Given the description of an element on the screen output the (x, y) to click on. 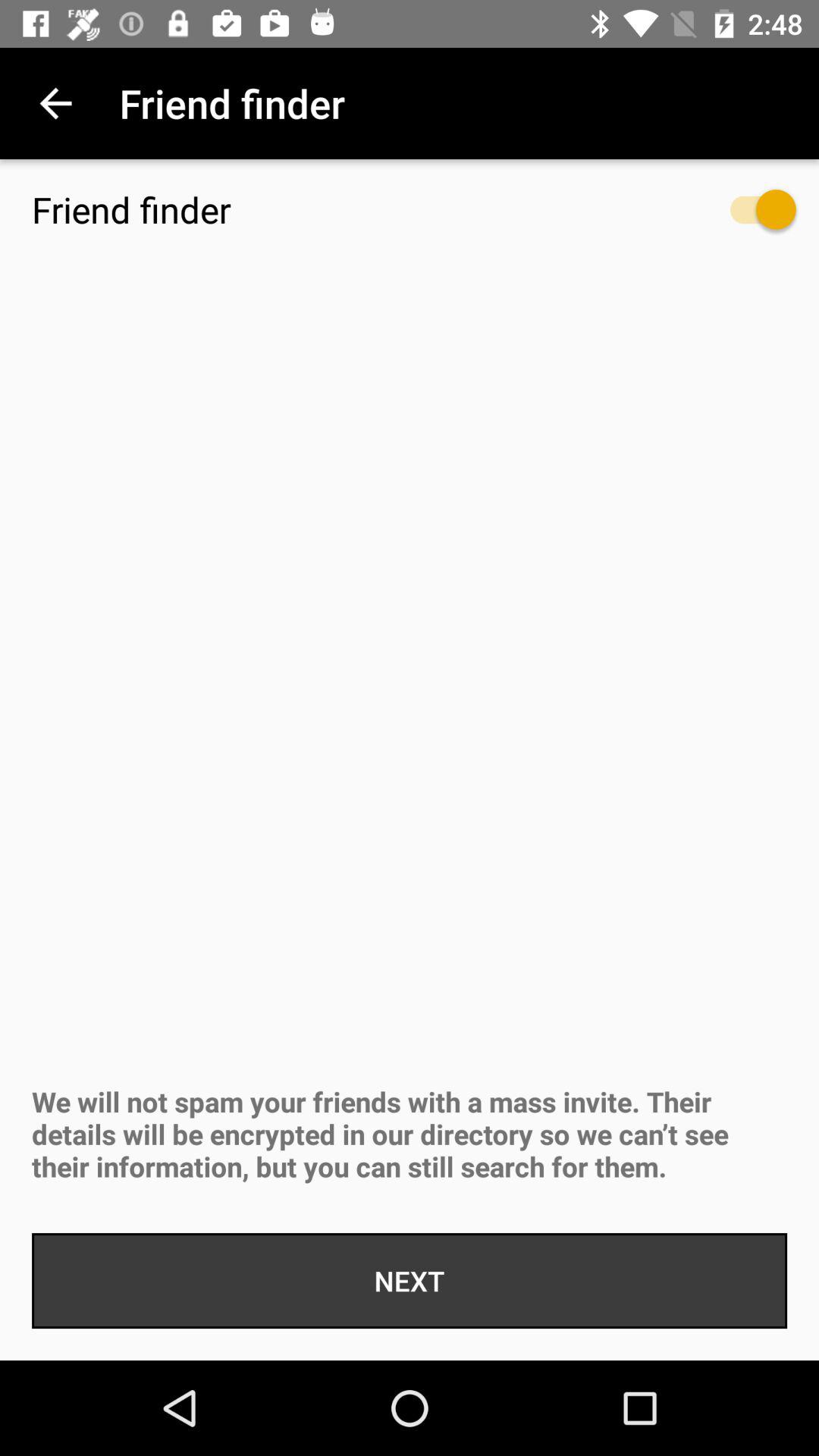
launch icon at the top right corner (747, 217)
